Given the description of an element on the screen output the (x, y) to click on. 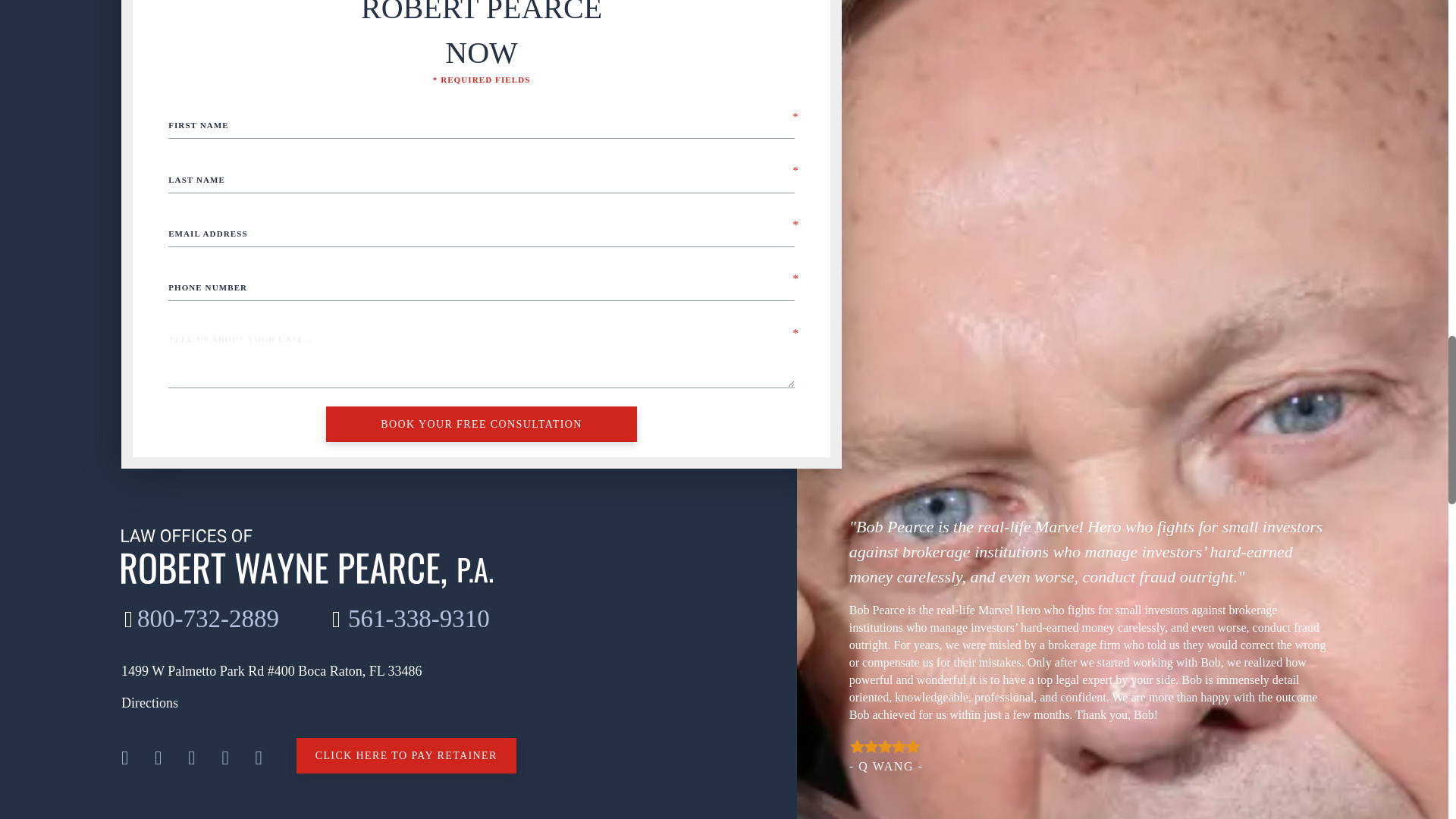
Call Law Offices of Robert Wayne Pearce (199, 618)
